Given the description of an element on the screen output the (x, y) to click on. 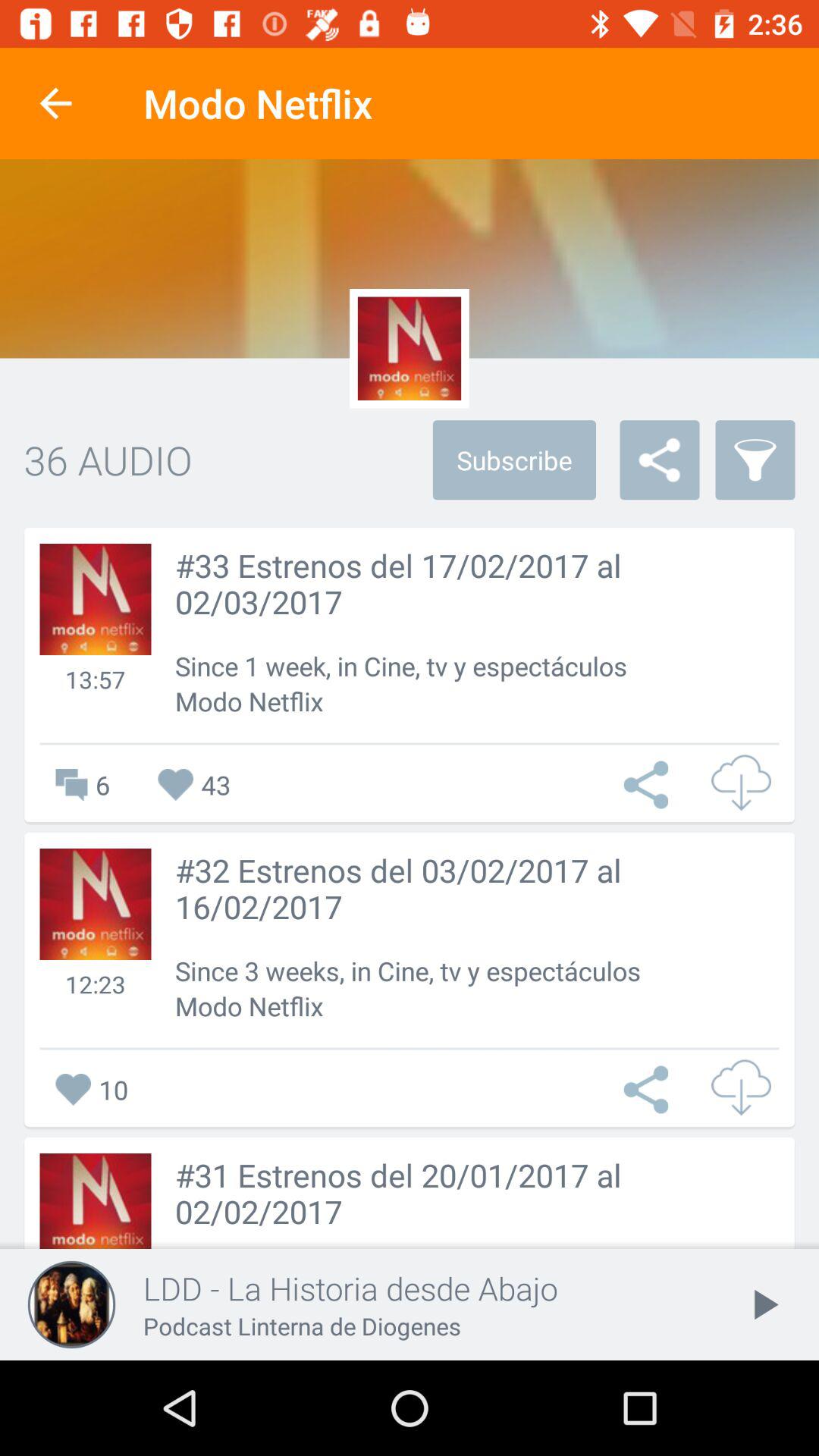
share (649, 784)
